Given the description of an element on the screen output the (x, y) to click on. 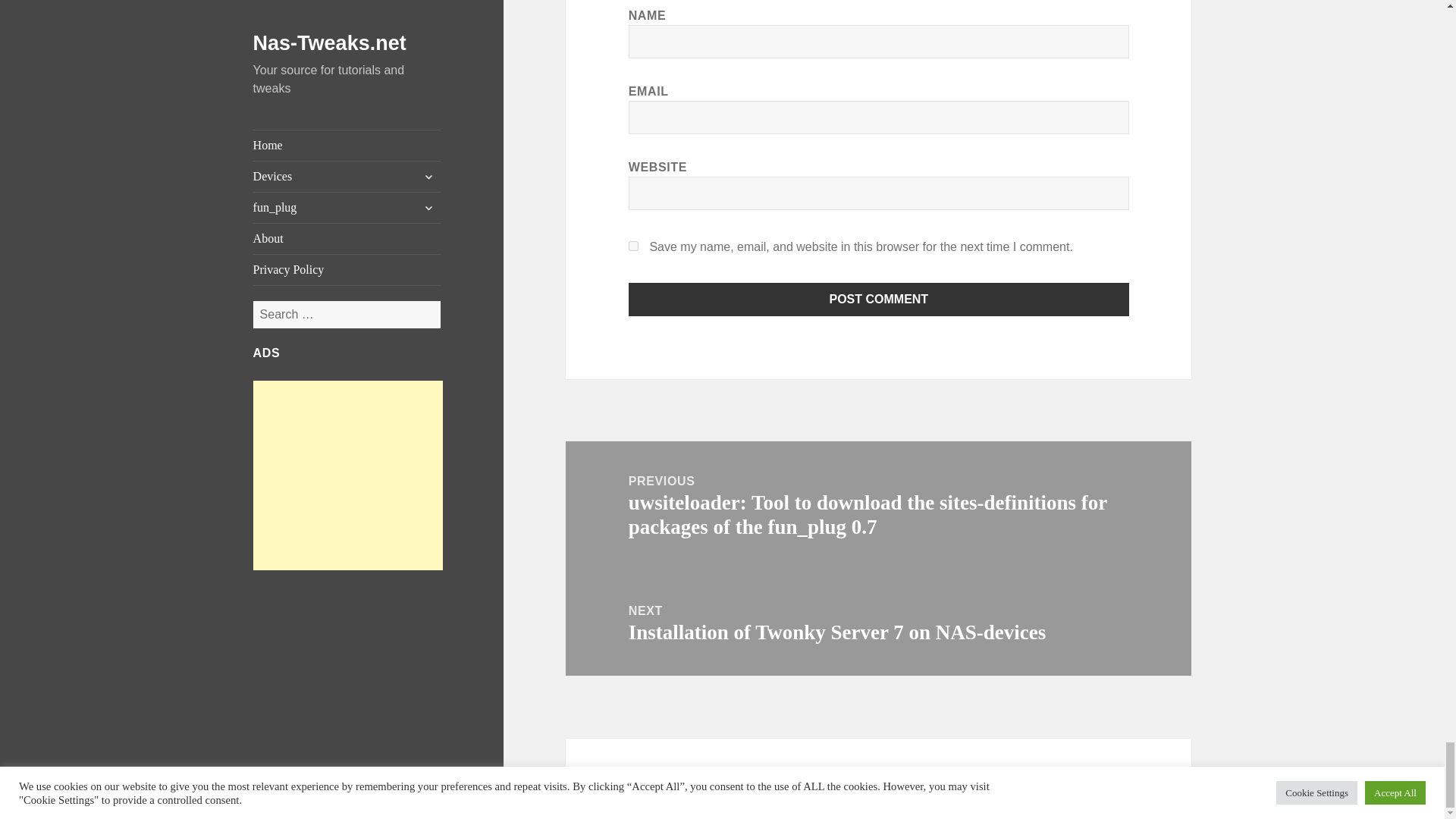
Post Comment (878, 299)
yes (633, 245)
